Given the description of an element on the screen output the (x, y) to click on. 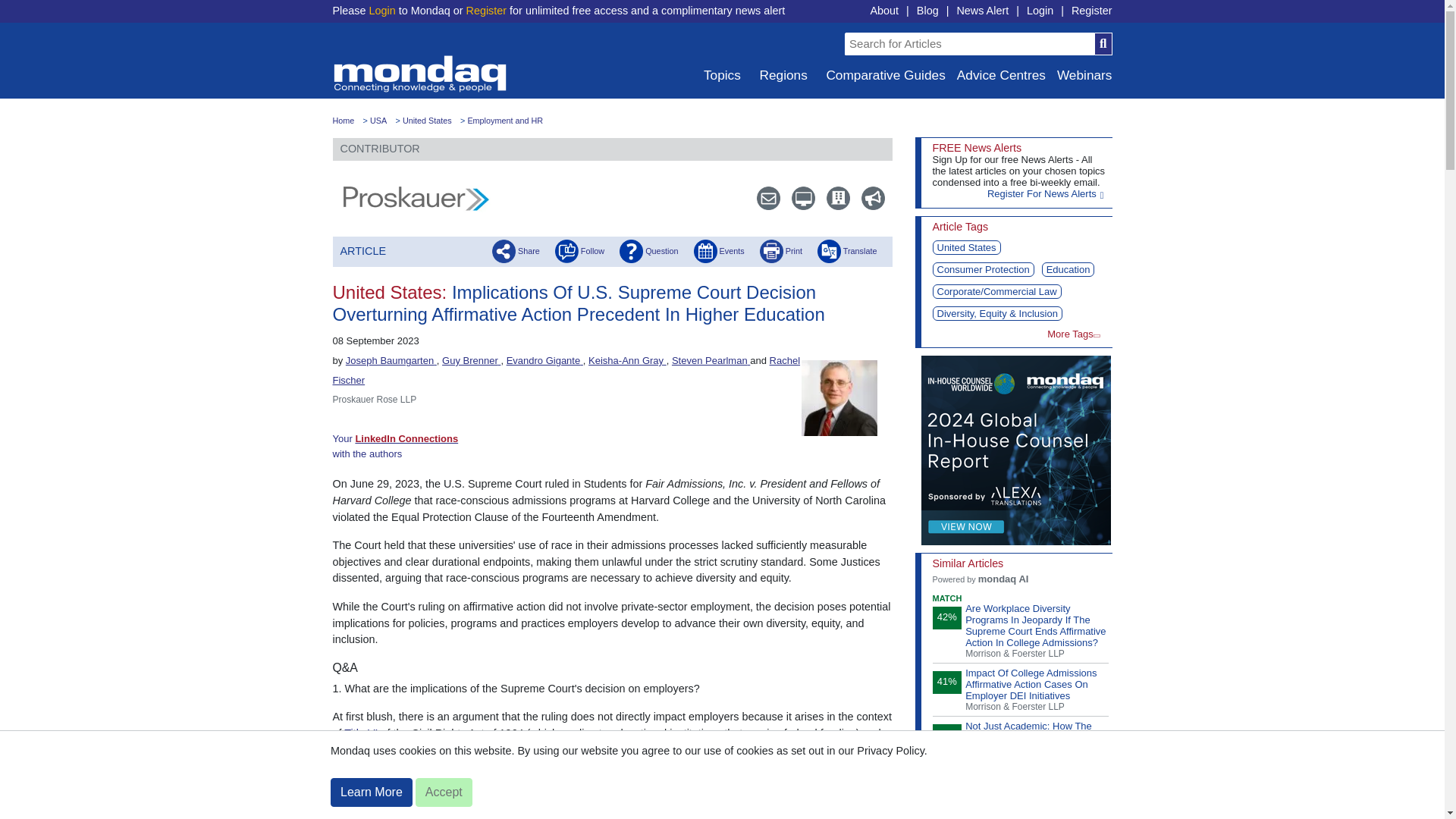
Email Proskauer Rose LLP (761, 197)
View this authors biography on their website (710, 360)
View this authors biography on their website (565, 369)
About (883, 10)
Click to visit to Proskauer Rose LLP Website (415, 198)
Topics   (720, 75)
View this authors biography on their website (471, 360)
View this authors biography on their website (544, 360)
Register (485, 10)
Login (1039, 10)
Blog (928, 10)
Register (1091, 10)
Visit Proskauer Rose LLP  website (795, 197)
Login (381, 10)
More from Proskauer Rose LLP (830, 197)
